Given the description of an element on the screen output the (x, y) to click on. 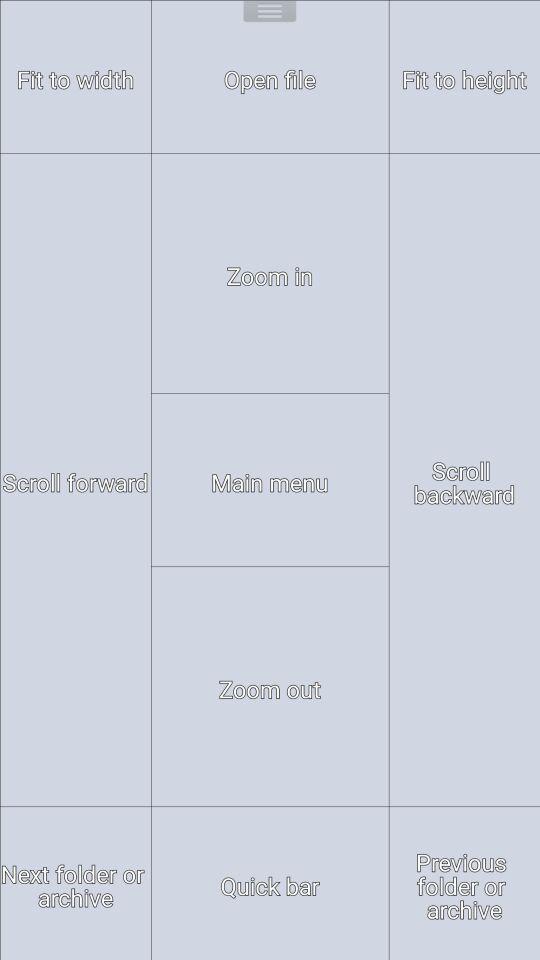
open menu (269, 14)
